Given the description of an element on the screen output the (x, y) to click on. 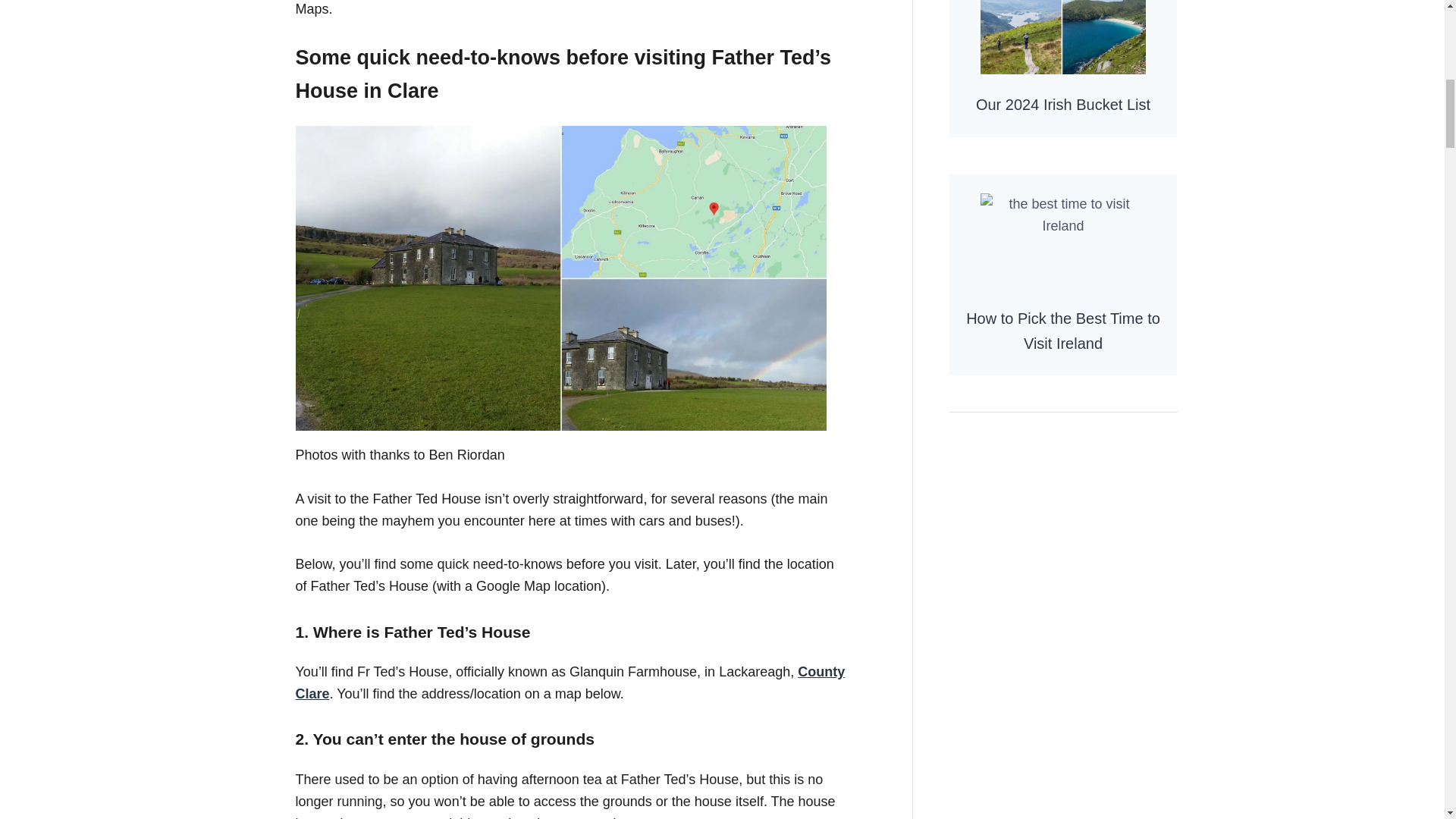
County Clare (570, 682)
Our 2024 Irish Bucket List (1062, 68)
